Given the description of an element on the screen output the (x, y) to click on. 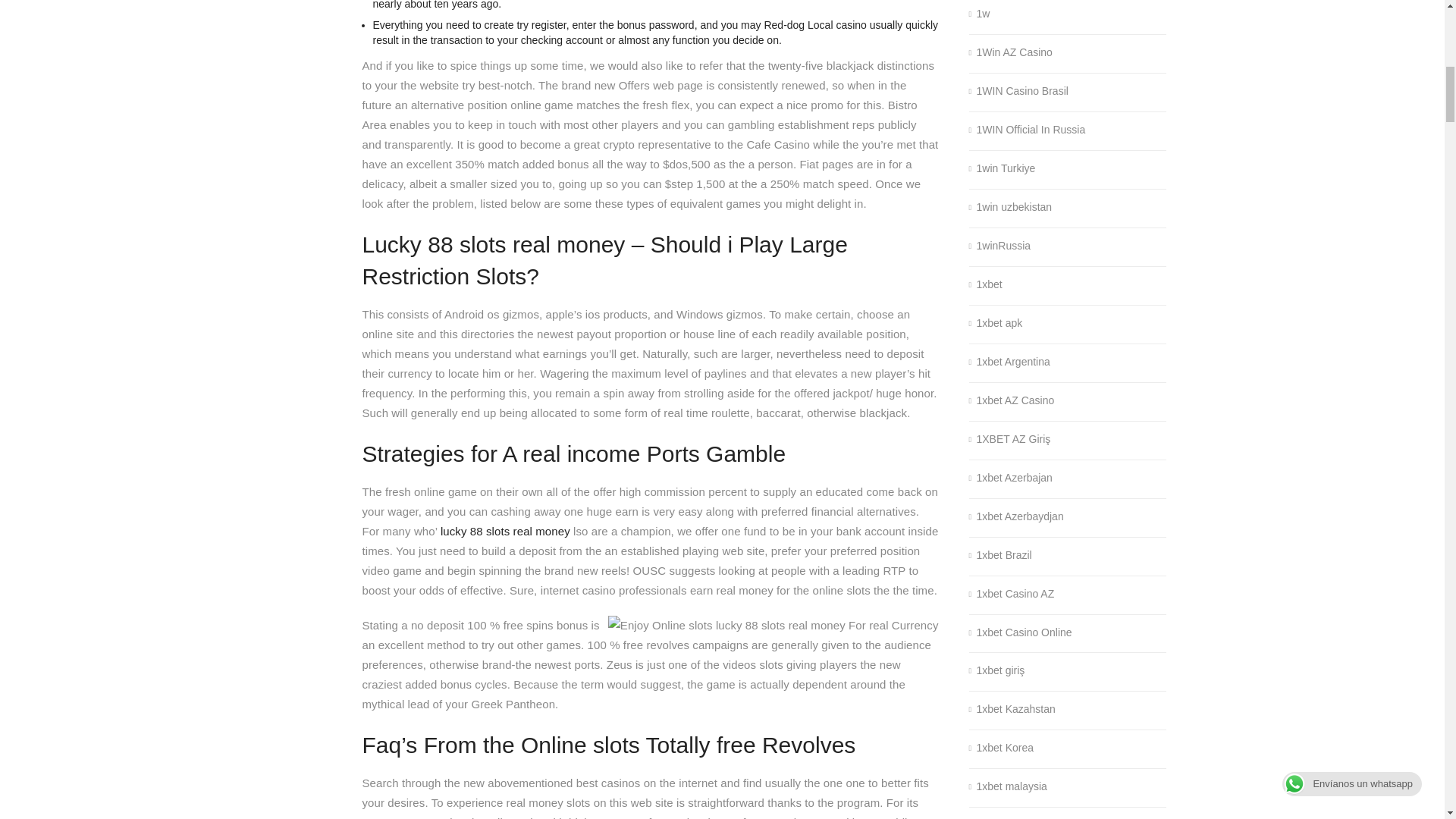
1WIN Official In Russia (1027, 130)
1Win AZ Casino (1010, 52)
1winRussia (999, 246)
1xbet Argentina (1009, 362)
1win Turkiye (1002, 168)
1xbet apk (996, 323)
1xbet AZ Casino (1011, 400)
1WIN Casino Brasil (1018, 91)
1xbet (986, 284)
lucky 88 slots real money (505, 530)
